Given the description of an element on the screen output the (x, y) to click on. 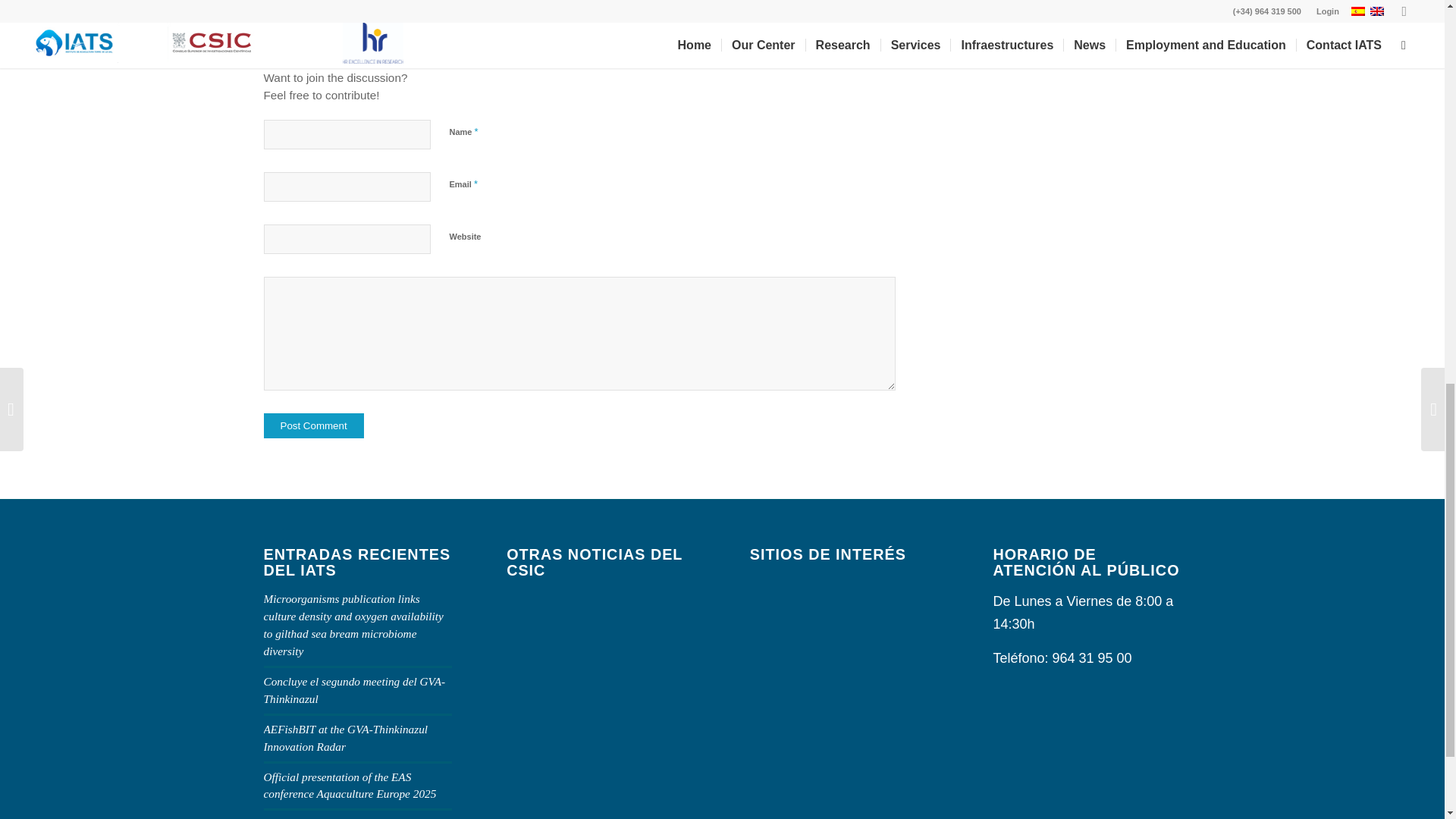
Post Comment (313, 425)
